Given the description of an element on the screen output the (x, y) to click on. 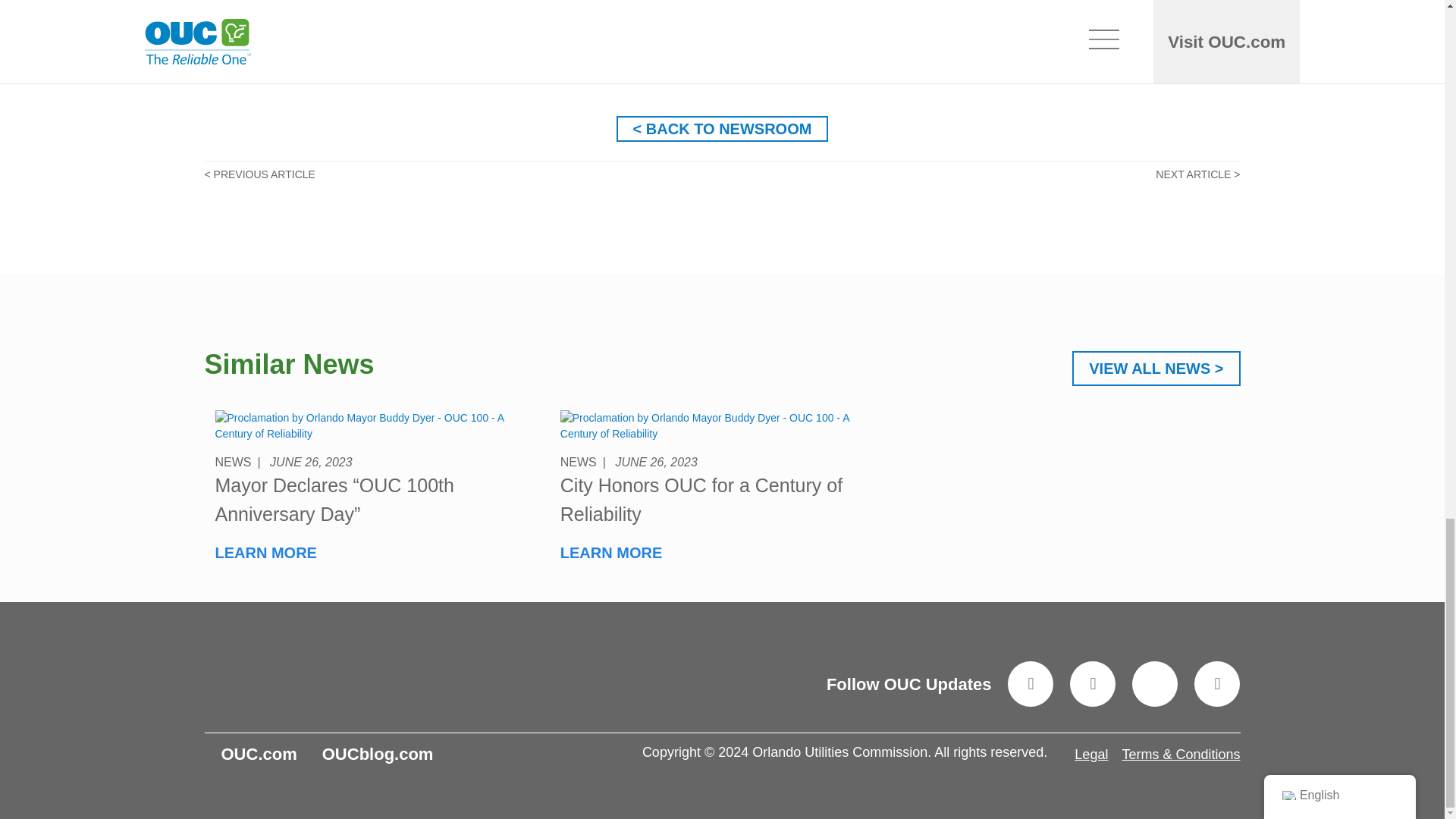
LEARN MORE (611, 552)
LEARN MORE (266, 552)
OUCblog.com (377, 753)
Legal (1091, 754)
City Honors OUC for a Century of Reliability (701, 499)
OUC.com (259, 753)
